Given the description of an element on the screen output the (x, y) to click on. 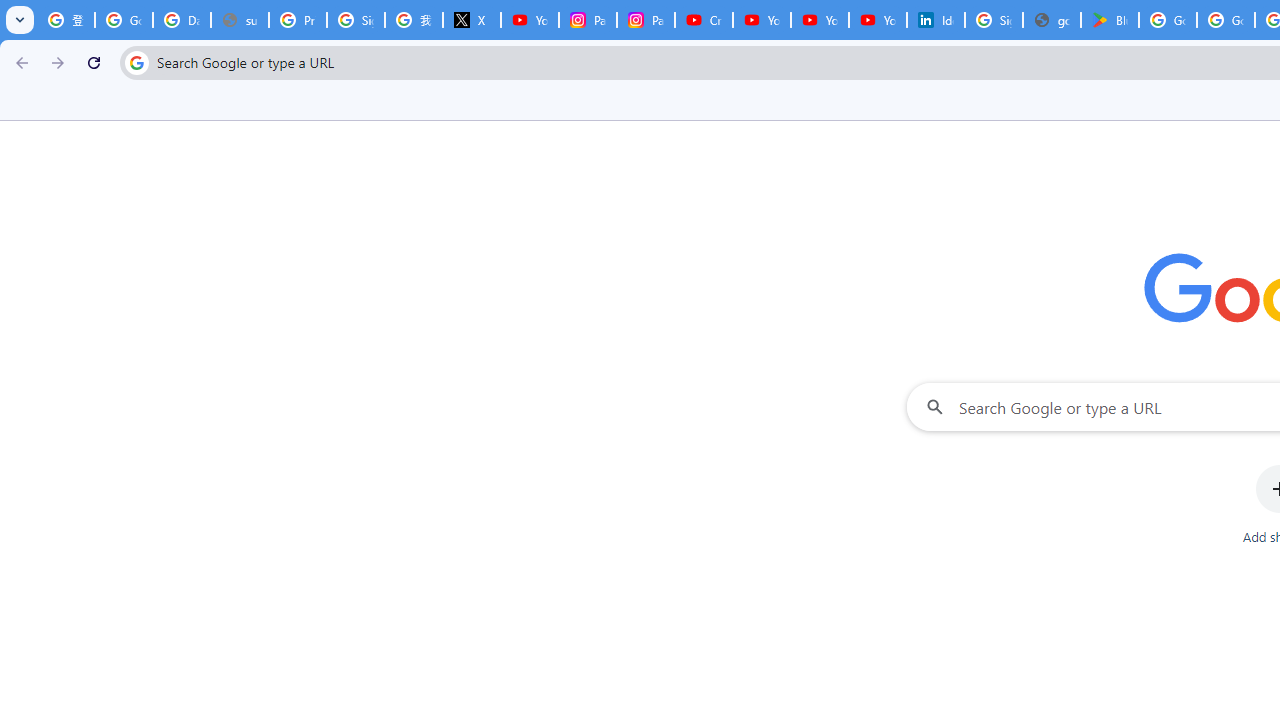
Bluey: Let's Play! - Apps on Google Play (1110, 20)
google_privacy_policy_en.pdf (1051, 20)
Sign in - Google Accounts (355, 20)
Google Workspace - Specific Terms (1225, 20)
Identity verification via Persona | LinkedIn Help (936, 20)
Search icon (136, 62)
